Given the description of an element on the screen output the (x, y) to click on. 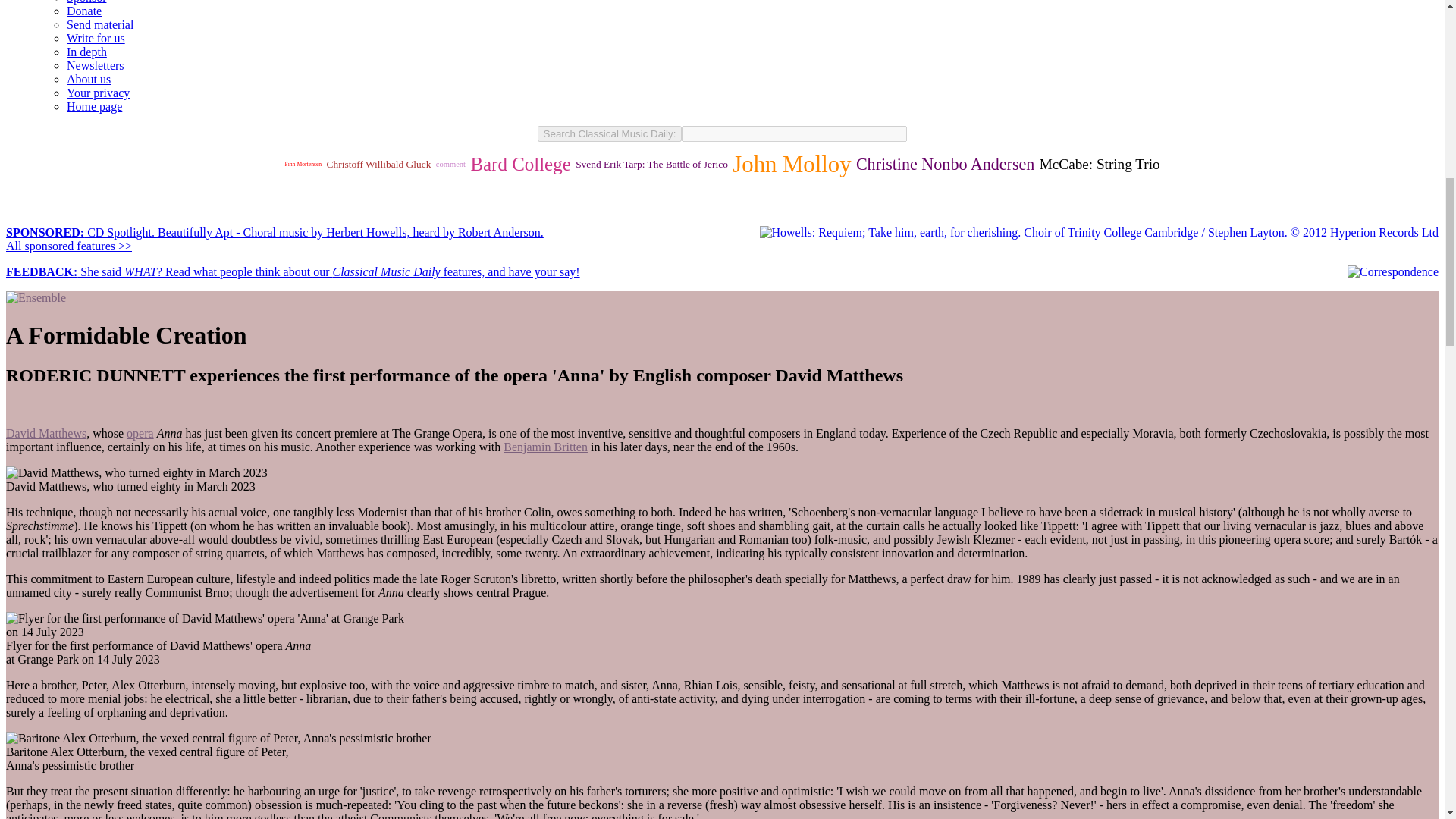
Search Classical Music Daily: (609, 133)
